Given the description of an element on the screen output the (x, y) to click on. 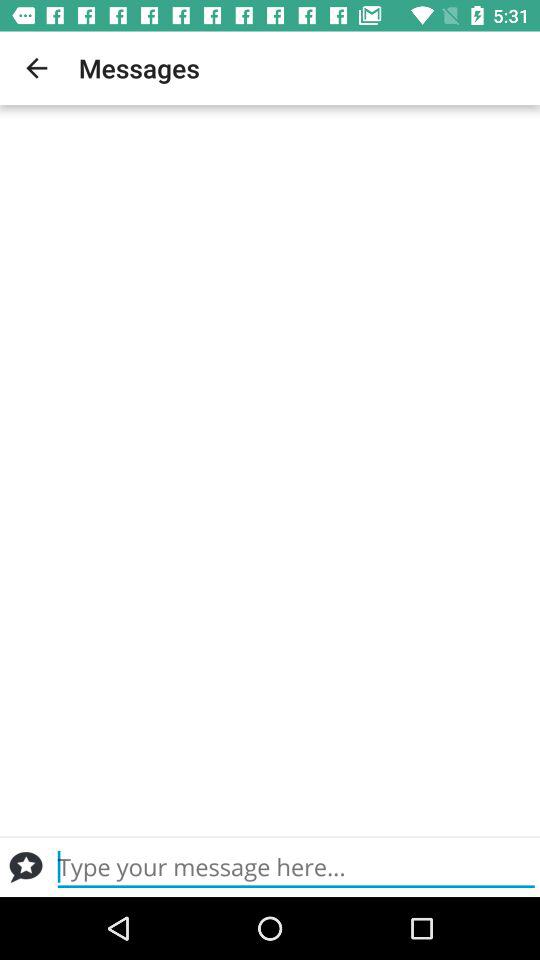
type message here (296, 867)
